Given the description of an element on the screen output the (x, y) to click on. 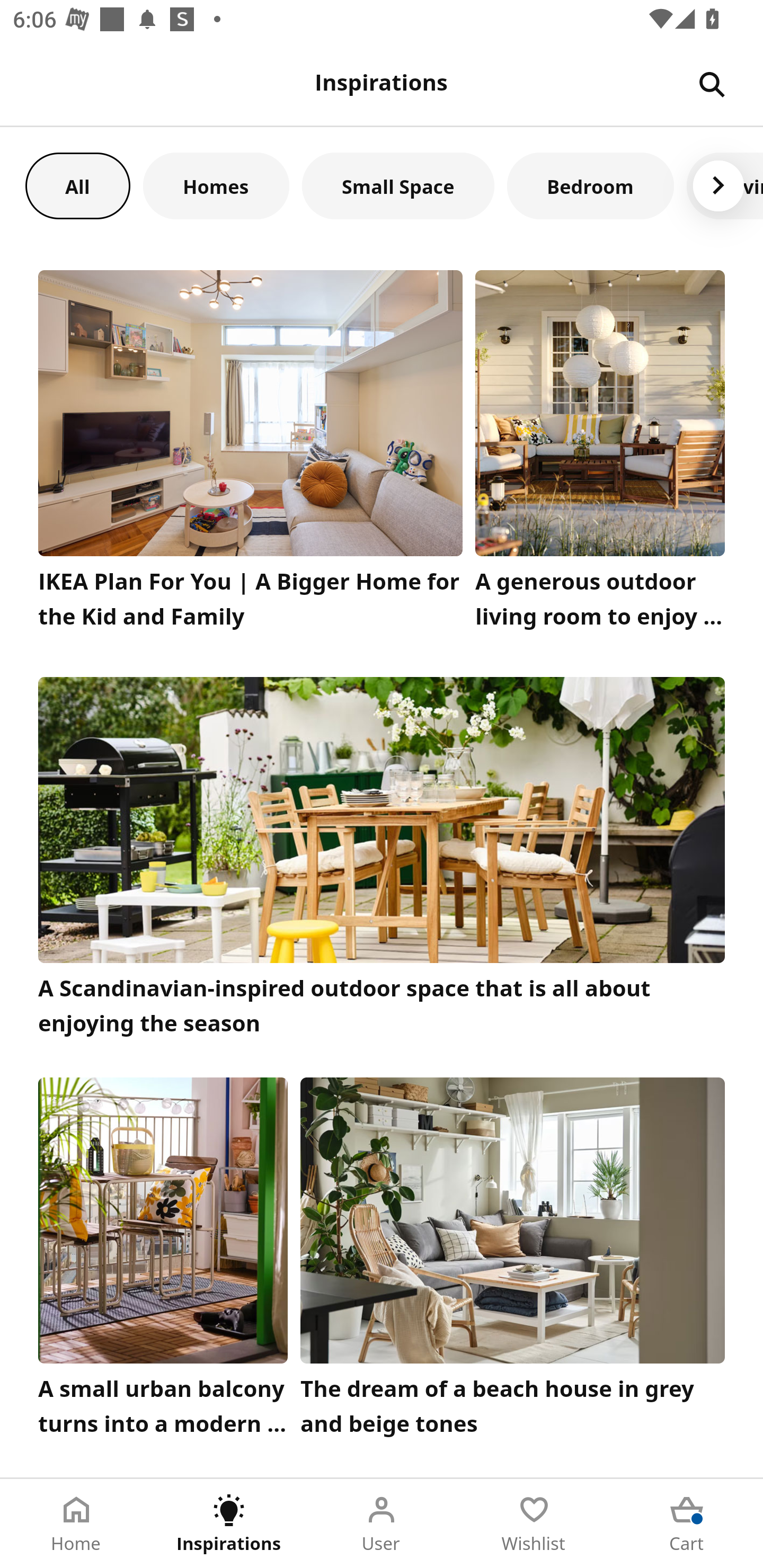
All (77, 185)
Homes (216, 185)
Small Space (398, 185)
Bedroom (590, 185)
The dream of a beach house in grey and beige tones (512, 1261)
Home
Tab 1 of 5 (76, 1522)
Inspirations
Tab 2 of 5 (228, 1522)
User
Tab 3 of 5 (381, 1522)
Wishlist
Tab 4 of 5 (533, 1522)
Cart
Tab 5 of 5 (686, 1522)
